Given the description of an element on the screen output the (x, y) to click on. 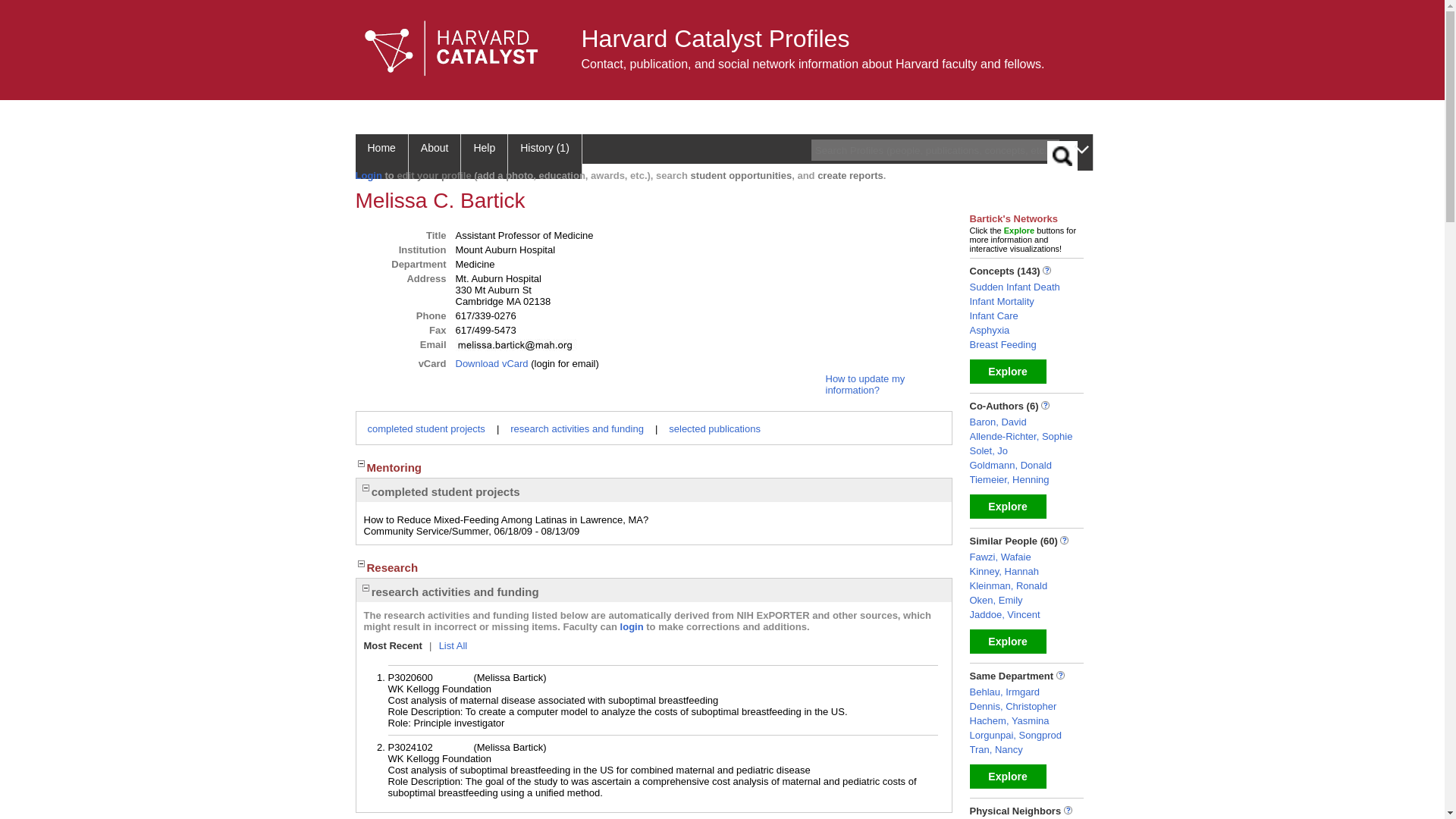
About (435, 156)
login (631, 626)
Most Recent (393, 645)
completed student projects (425, 428)
List All (452, 645)
View Harvard Catalyst Homepage (451, 49)
Login (368, 174)
Home (381, 156)
completed student projects (439, 491)
selected publications (714, 428)
Download vCard (490, 363)
login for email (564, 363)
Help (484, 156)
research activities and funding (577, 428)
research activities and funding (448, 591)
